Given the description of an element on the screen output the (x, y) to click on. 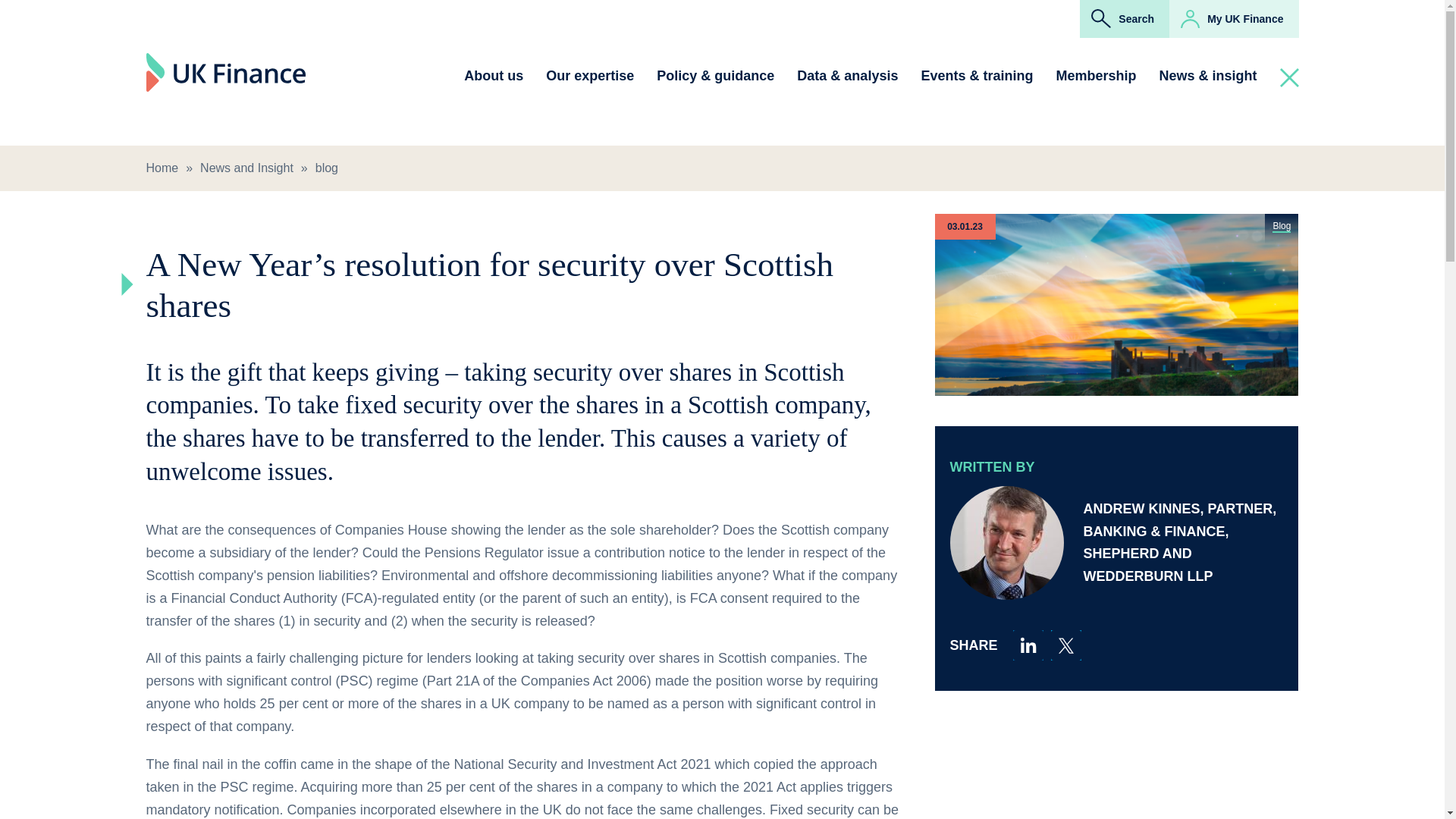
Search (1027, 262)
My UK Finance (1233, 18)
Share on LinkedIn (1028, 644)
Our expertise (589, 76)
Search (1124, 18)
Share on Twitter (1066, 644)
About us (493, 76)
